Given the description of an element on the screen output the (x, y) to click on. 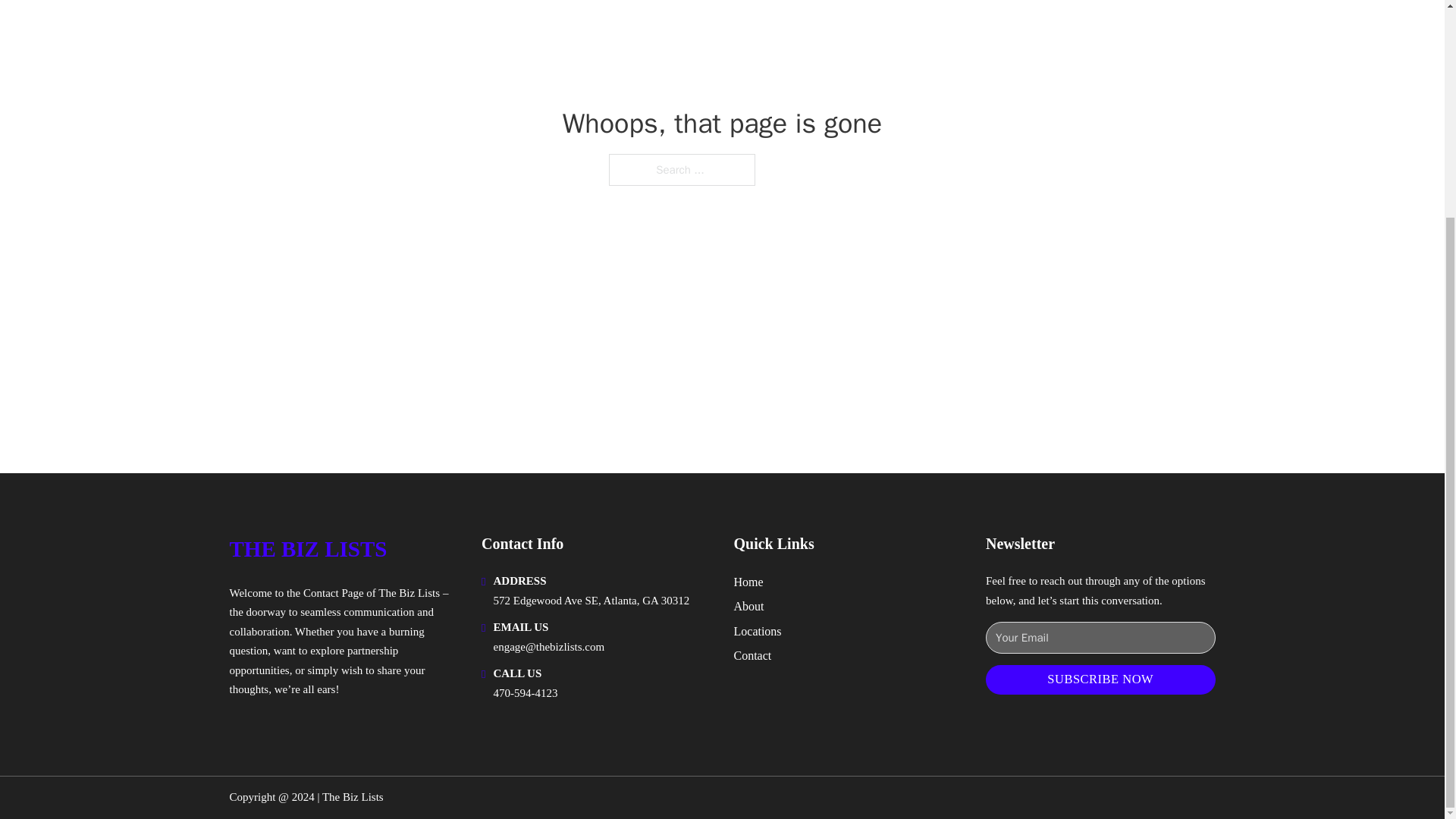
THE BIZ LISTS (307, 549)
SUBSCRIBE NOW (1100, 679)
Contact (752, 655)
Locations (757, 630)
Home (747, 581)
470-594-4123 (525, 693)
About (748, 606)
